Given the description of an element on the screen output the (x, y) to click on. 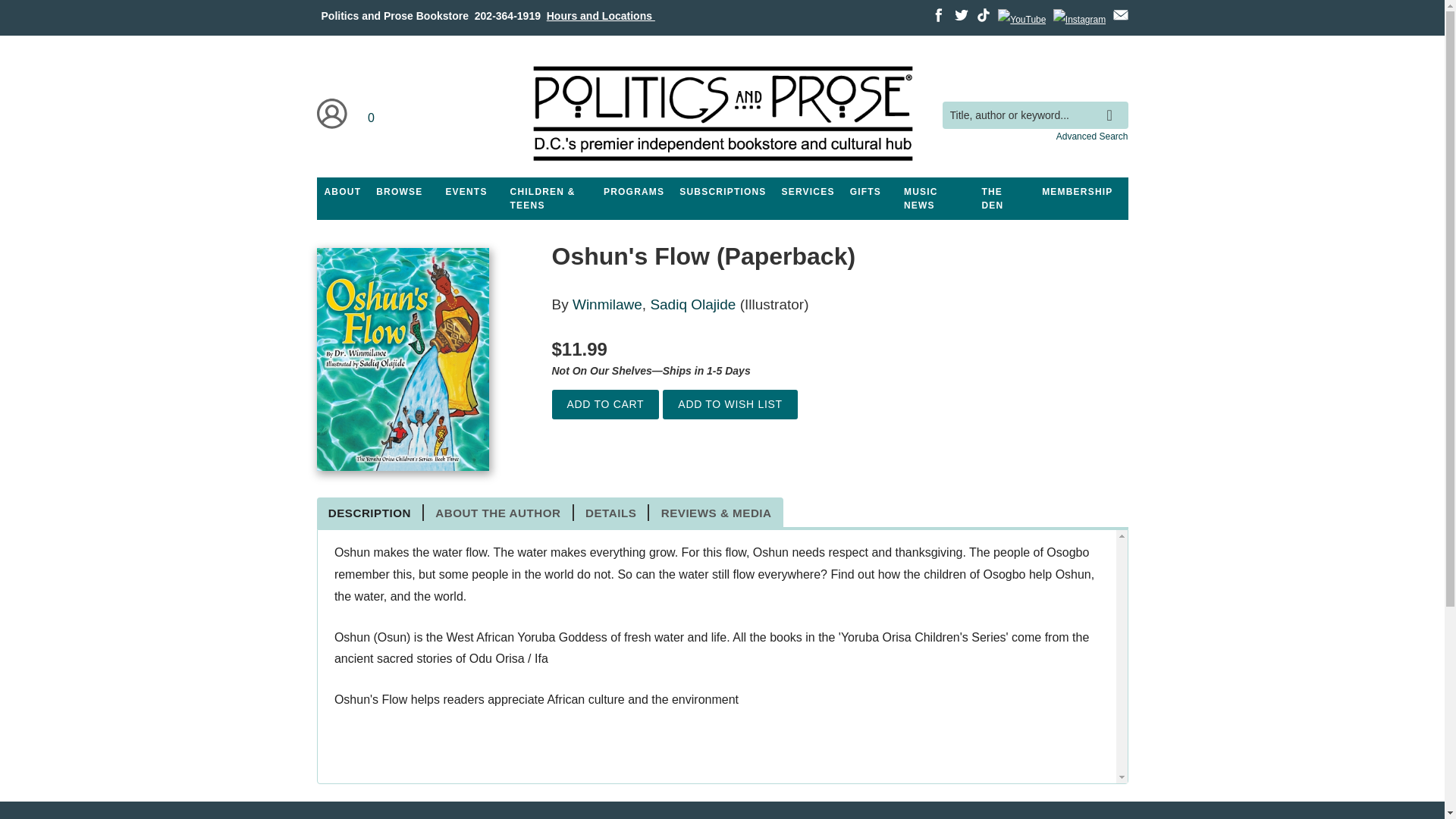
search (1112, 103)
Cart (371, 114)
SUBSCRIPTIONS (722, 191)
BROWSE (398, 191)
PROGRAMS (633, 191)
ABOUT (343, 191)
Visit your cart (371, 114)
See our event calendar (465, 191)
See information about our programs (633, 191)
search (1112, 103)
Advanced Search (1092, 136)
My Account (332, 114)
Hours and Locations  (601, 15)
Title, author or keyword... (1034, 115)
